Given the description of an element on the screen output the (x, y) to click on. 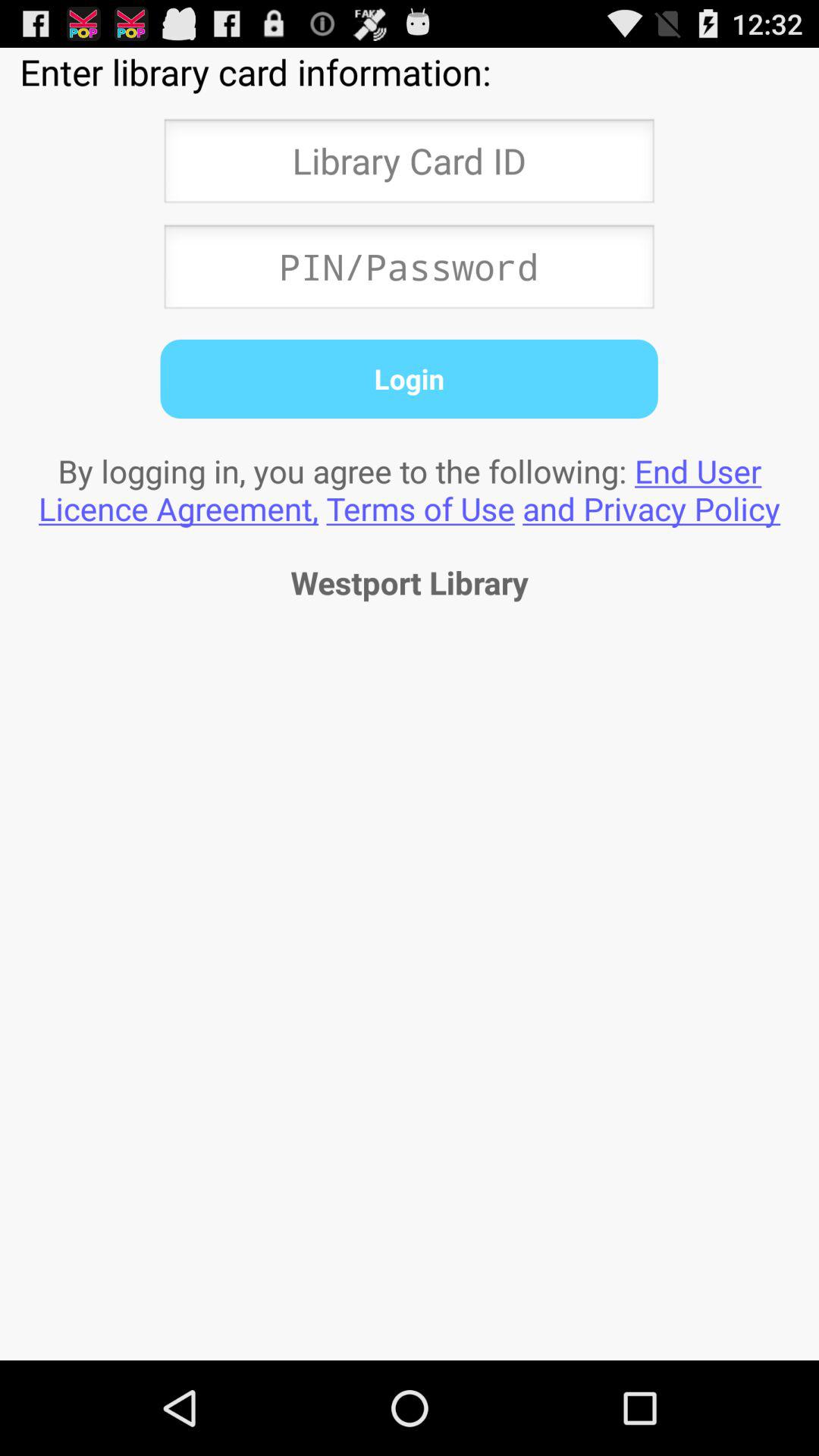
press app above the westport library (409, 489)
